Given the description of an element on the screen output the (x, y) to click on. 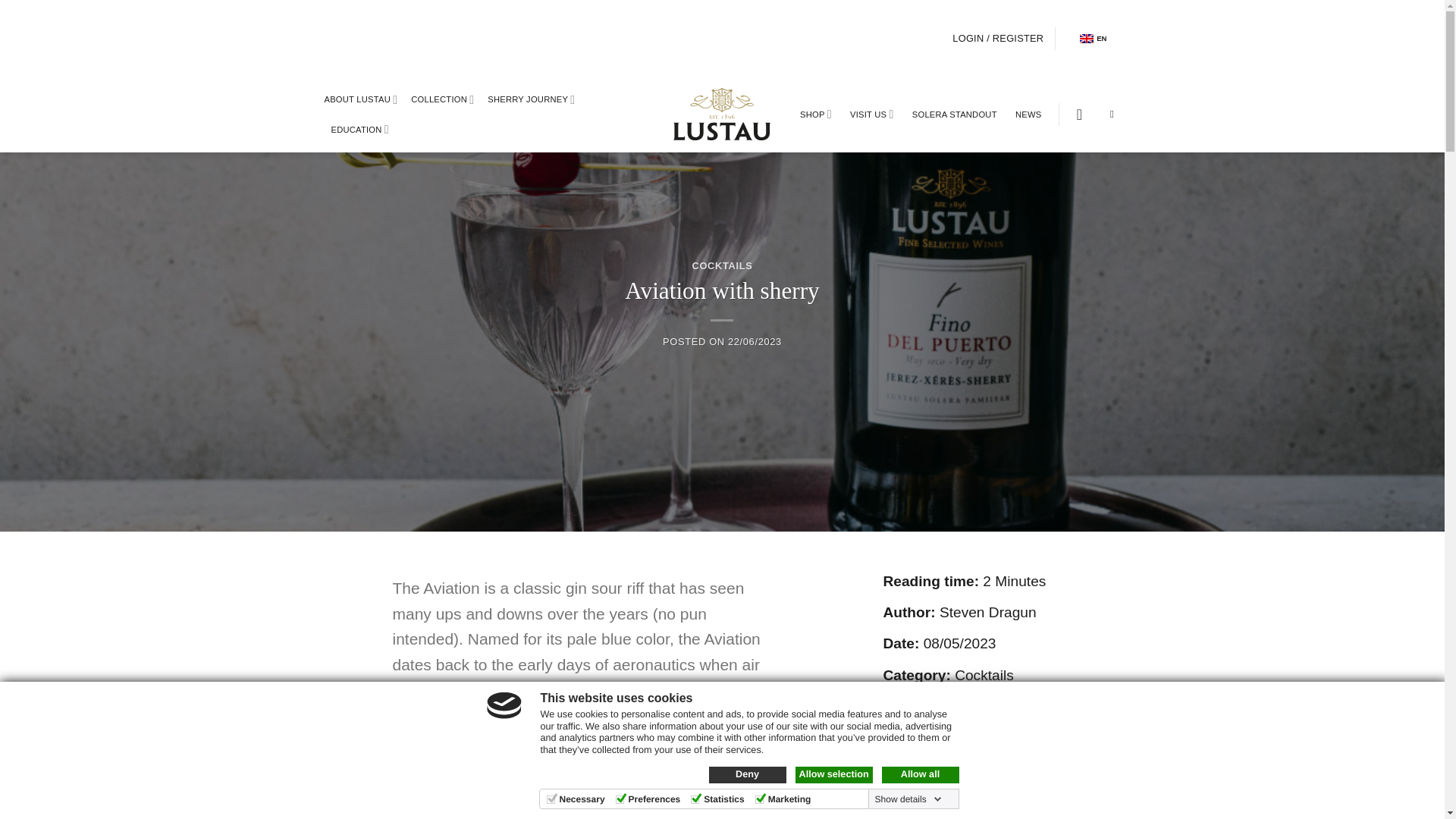
Show details (908, 799)
Allow all (919, 774)
Deny (746, 774)
Allow selection (833, 774)
